Given the description of an element on the screen output the (x, y) to click on. 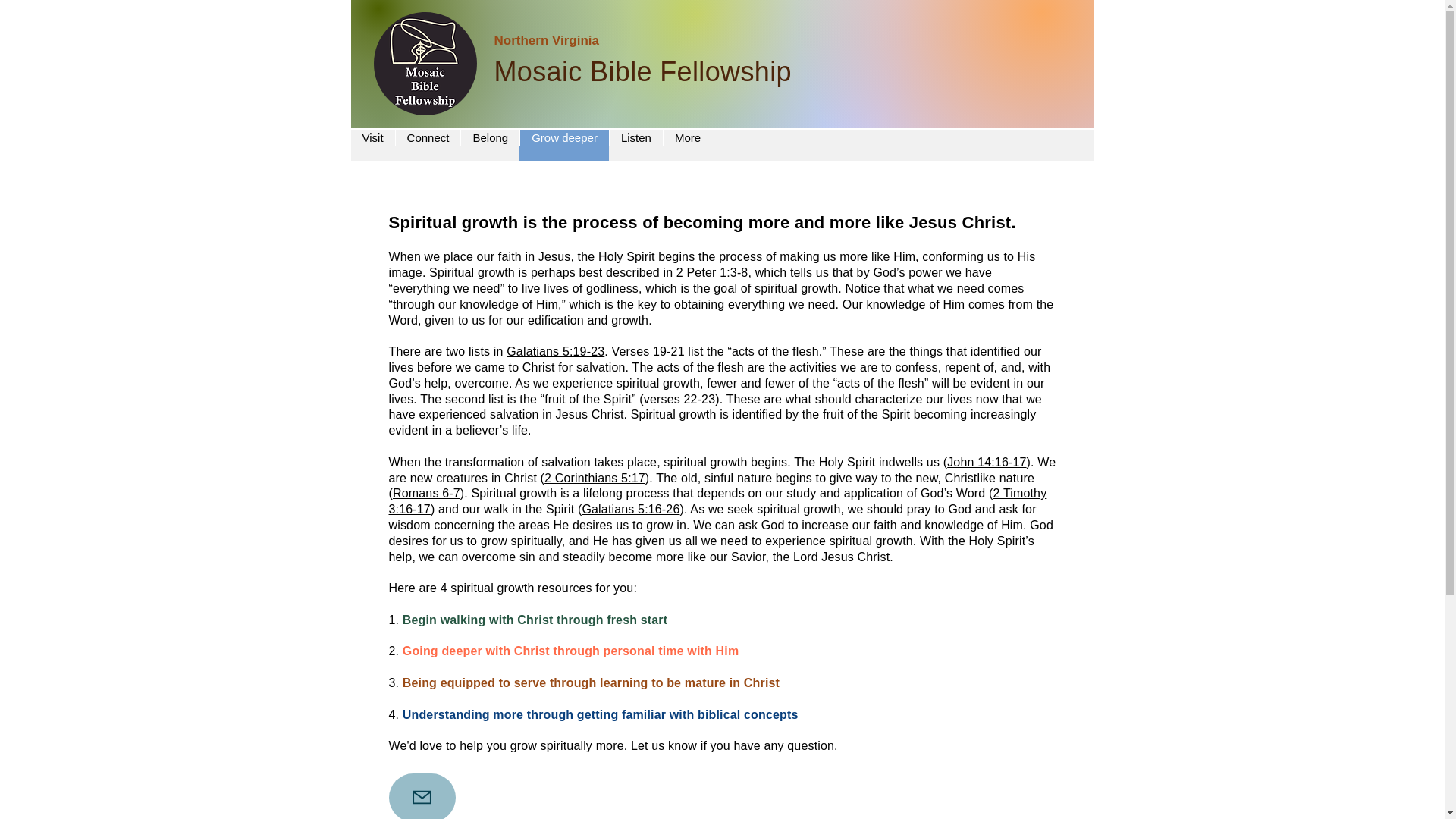
Listen (635, 144)
Connect (427, 144)
Galatians 5:16-26 (629, 508)
Begin walking with Christ through fresh start (534, 619)
2 Peter 1:3-8 (712, 272)
Belong (489, 144)
Galatians 5:19-23 (555, 350)
2 Timothy 3:16-17 (717, 500)
2 Corinthians 5:17 (594, 477)
Going deeper with Christ through personal time with Him (571, 650)
